Given the description of an element on the screen output the (x, y) to click on. 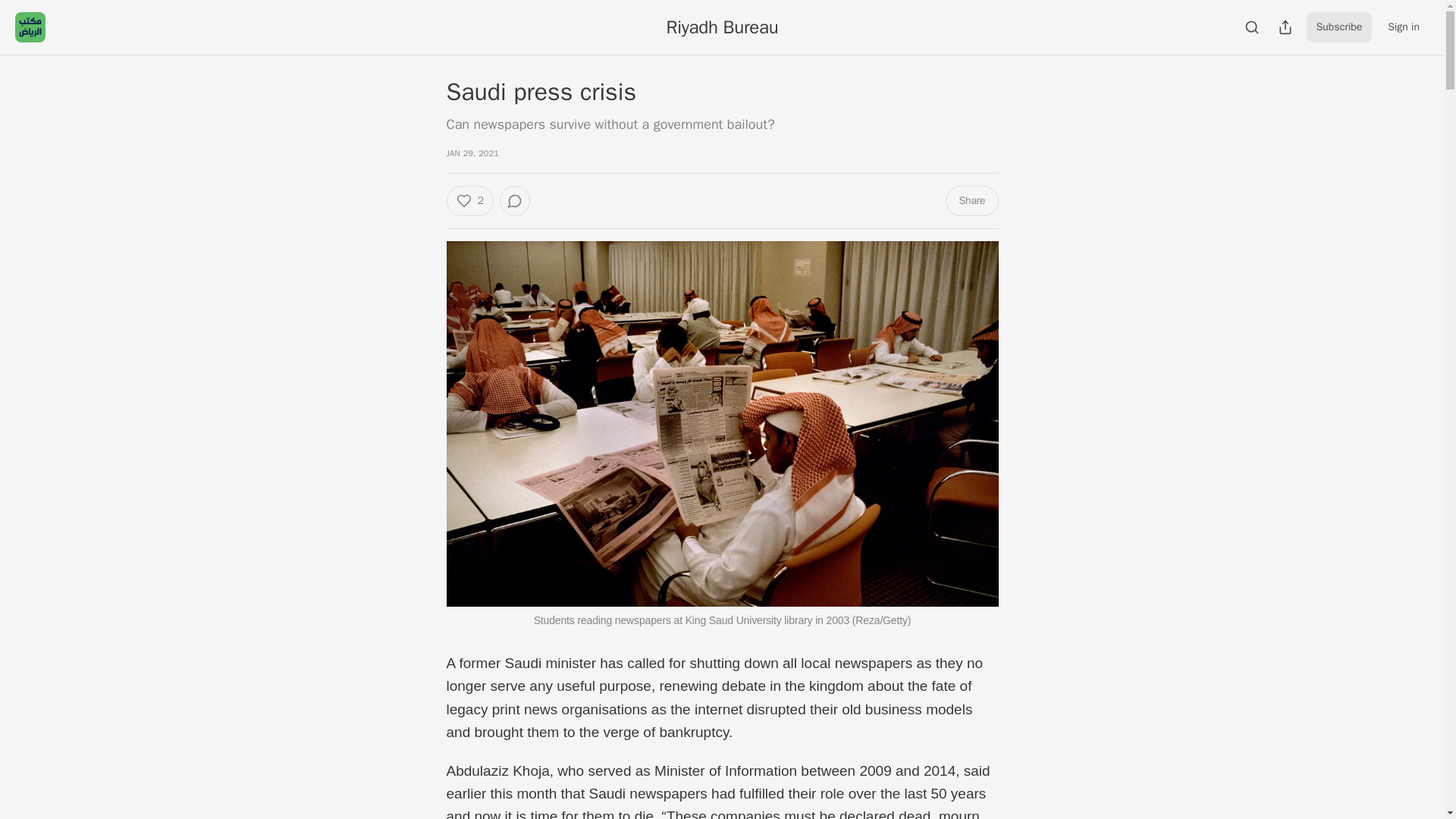
Riyadh Bureau (721, 26)
2 (469, 200)
Share (970, 200)
Subscribe (1339, 27)
Sign in (1403, 27)
